Given the description of an element on the screen output the (x, y) to click on. 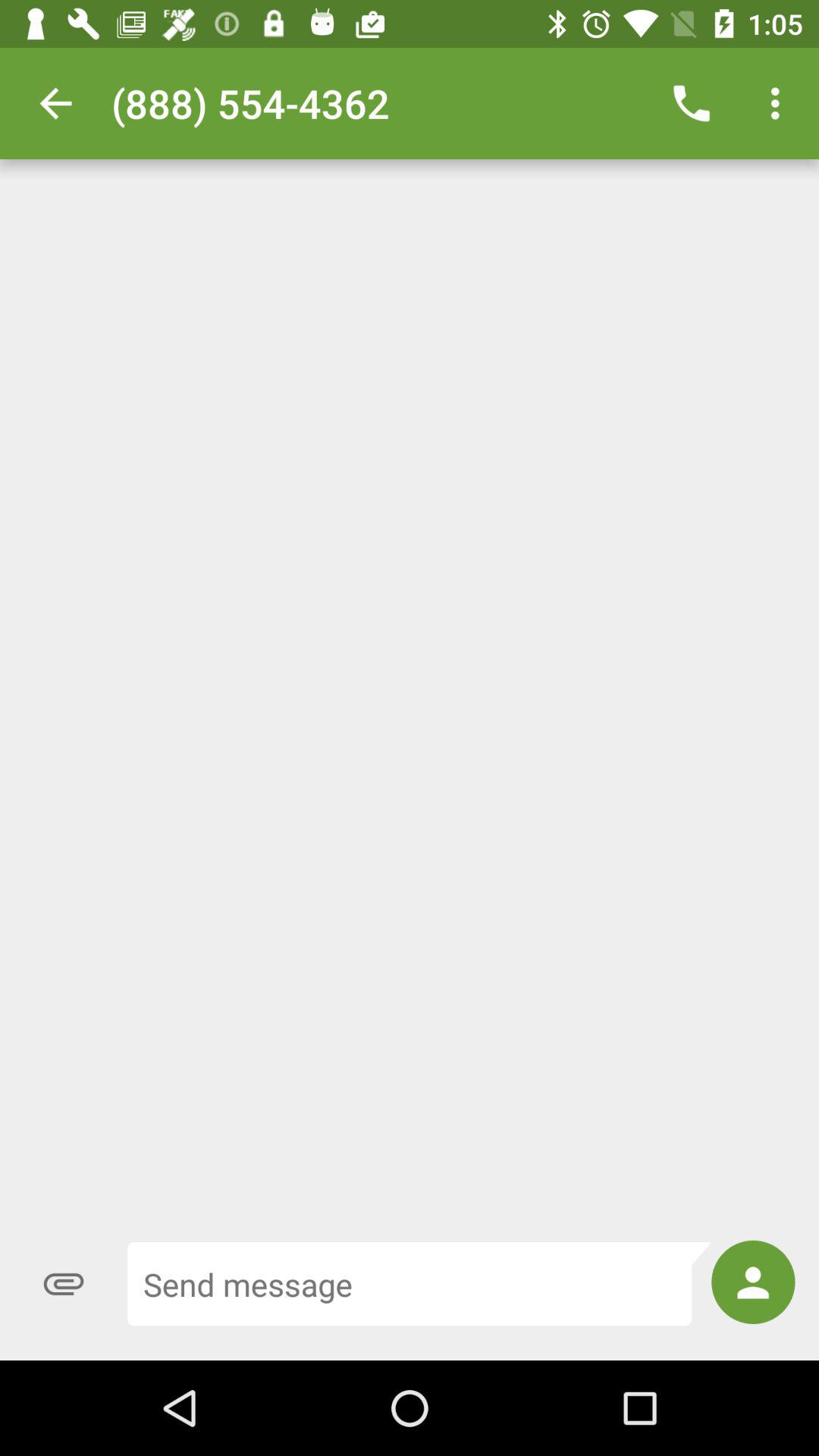
select icon at the top left corner (55, 103)
